Given the description of an element on the screen output the (x, y) to click on. 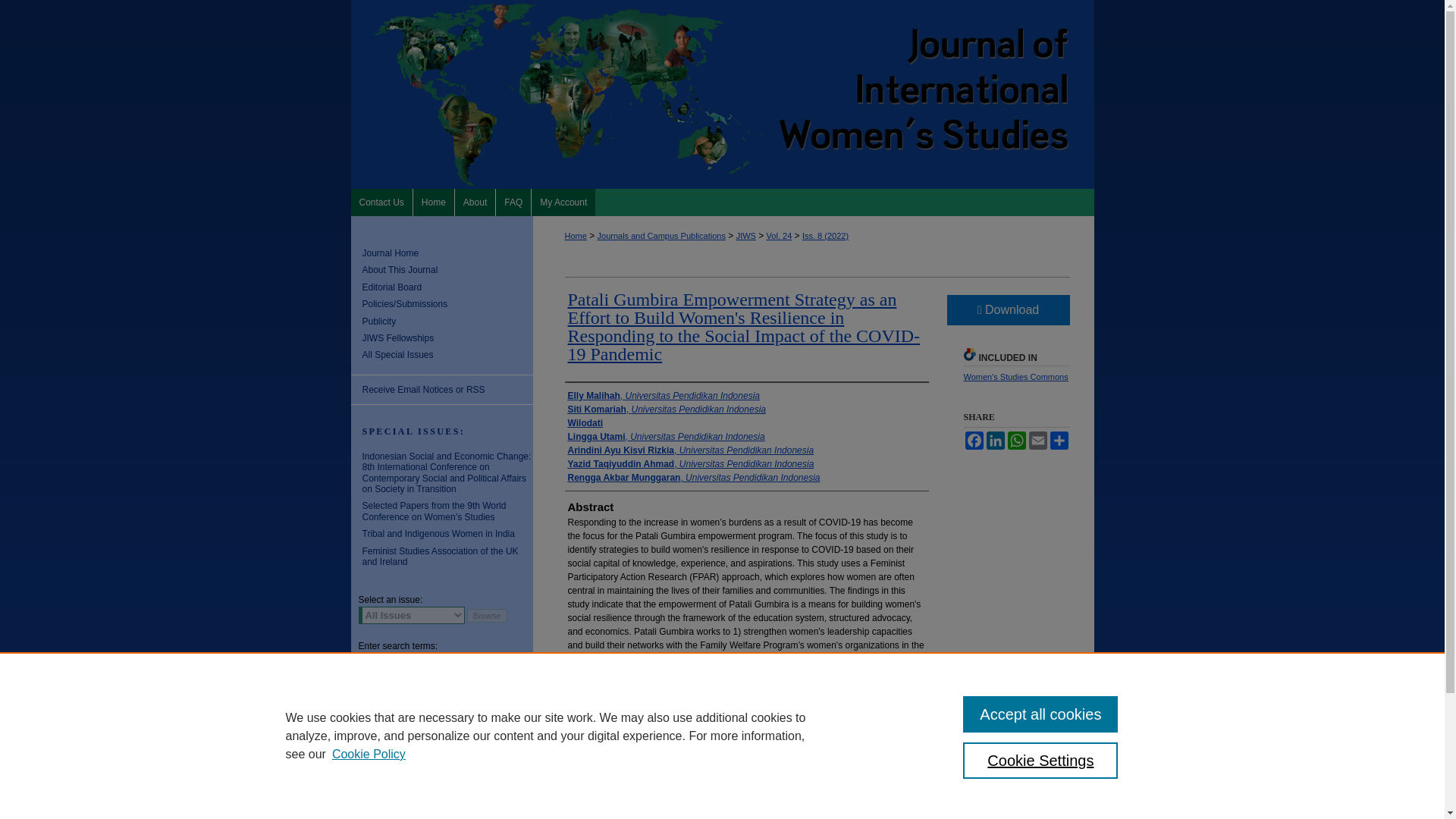
About (475, 202)
Rengga Akbar Munggaran, Universitas Pendidikan Indonesia (693, 477)
Browse (486, 615)
Journals and Campus Publications (660, 235)
Browse (486, 615)
Editorial Board (447, 286)
Contact Us (381, 202)
WhatsApp (1016, 440)
Download (1007, 309)
Home (575, 235)
Women's Studies Commons (1014, 376)
Search (493, 663)
About This Journal (447, 269)
Email (1037, 440)
FAQ (513, 202)
